Given the description of an element on the screen output the (x, y) to click on. 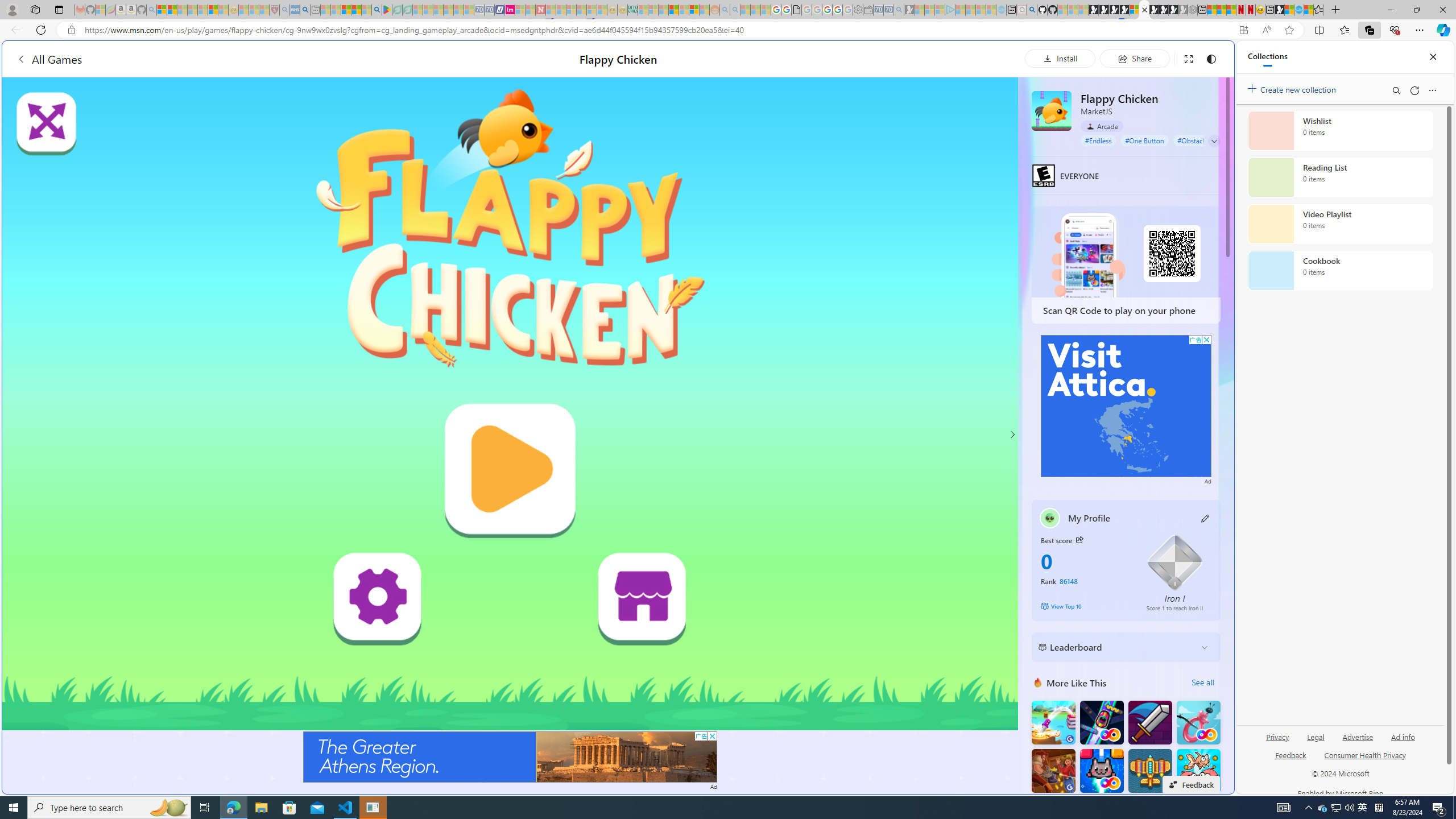
See all (1202, 682)
Local - MSN - Sleeping (263, 9)
World - MSN (1288, 9)
Class: button (1079, 539)
Search or enter web address (922, 108)
